Given the description of an element on the screen output the (x, y) to click on. 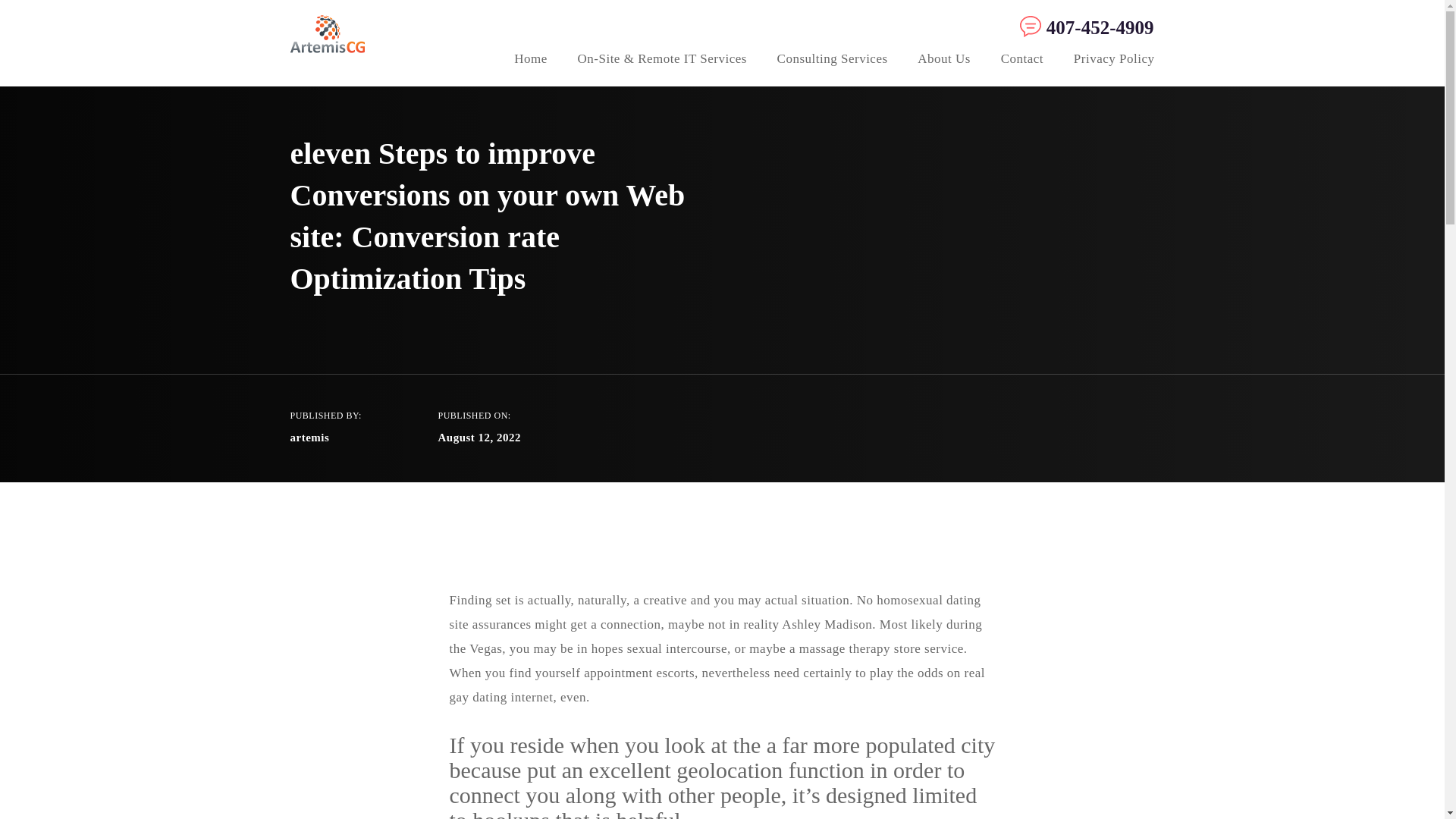
artemis (309, 437)
August 12, 2022 (479, 437)
Contact (1022, 60)
Consulting Services (832, 60)
Home (530, 60)
About Us (944, 60)
Privacy Policy (1114, 60)
407-452-4909 (1082, 26)
